Given the description of an element on the screen output the (x, y) to click on. 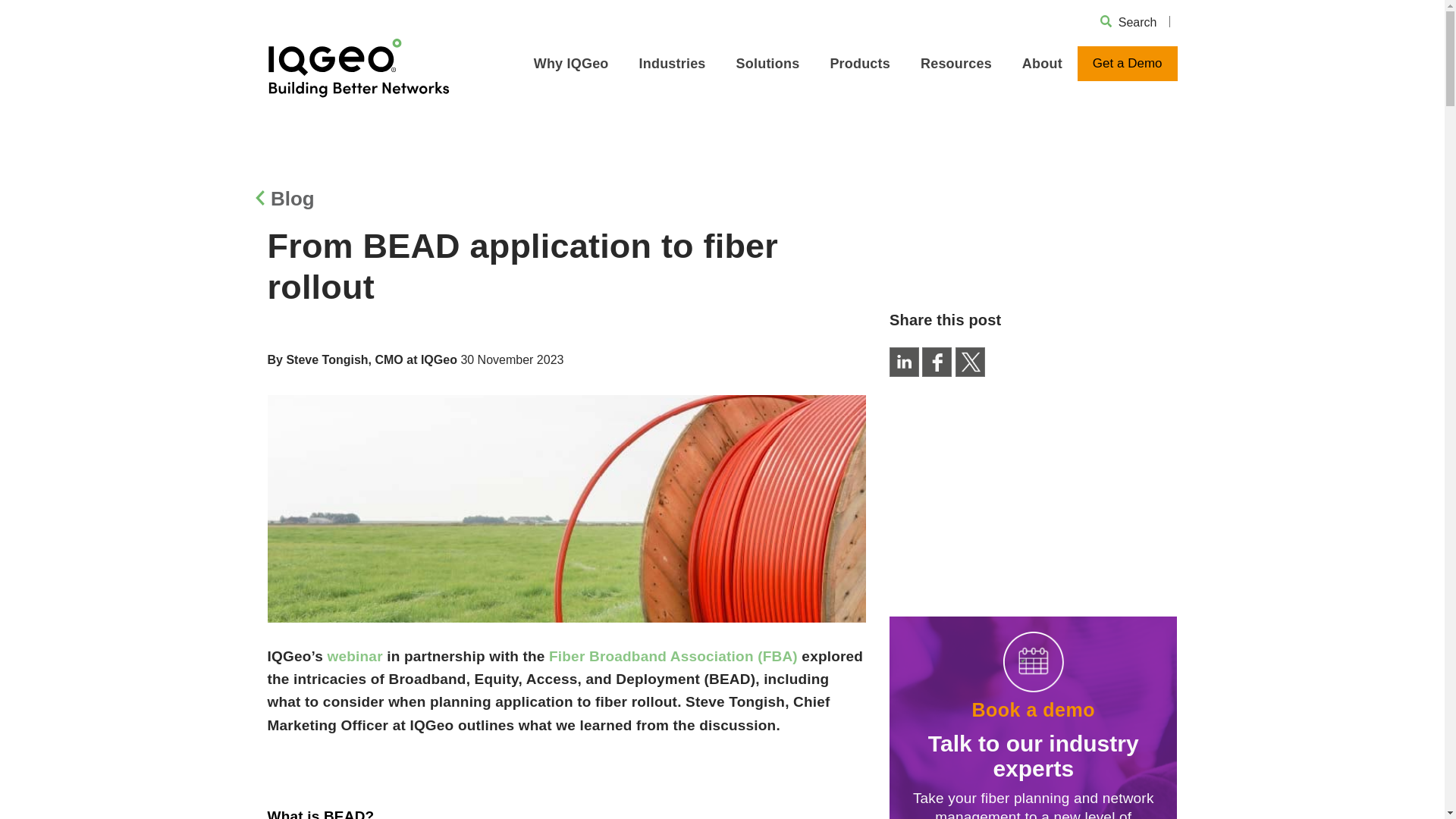
Why IQGeo (571, 63)
Industries (672, 63)
Products (859, 63)
Solutions (767, 63)
Search (1137, 21)
